Given the description of an element on the screen output the (x, y) to click on. 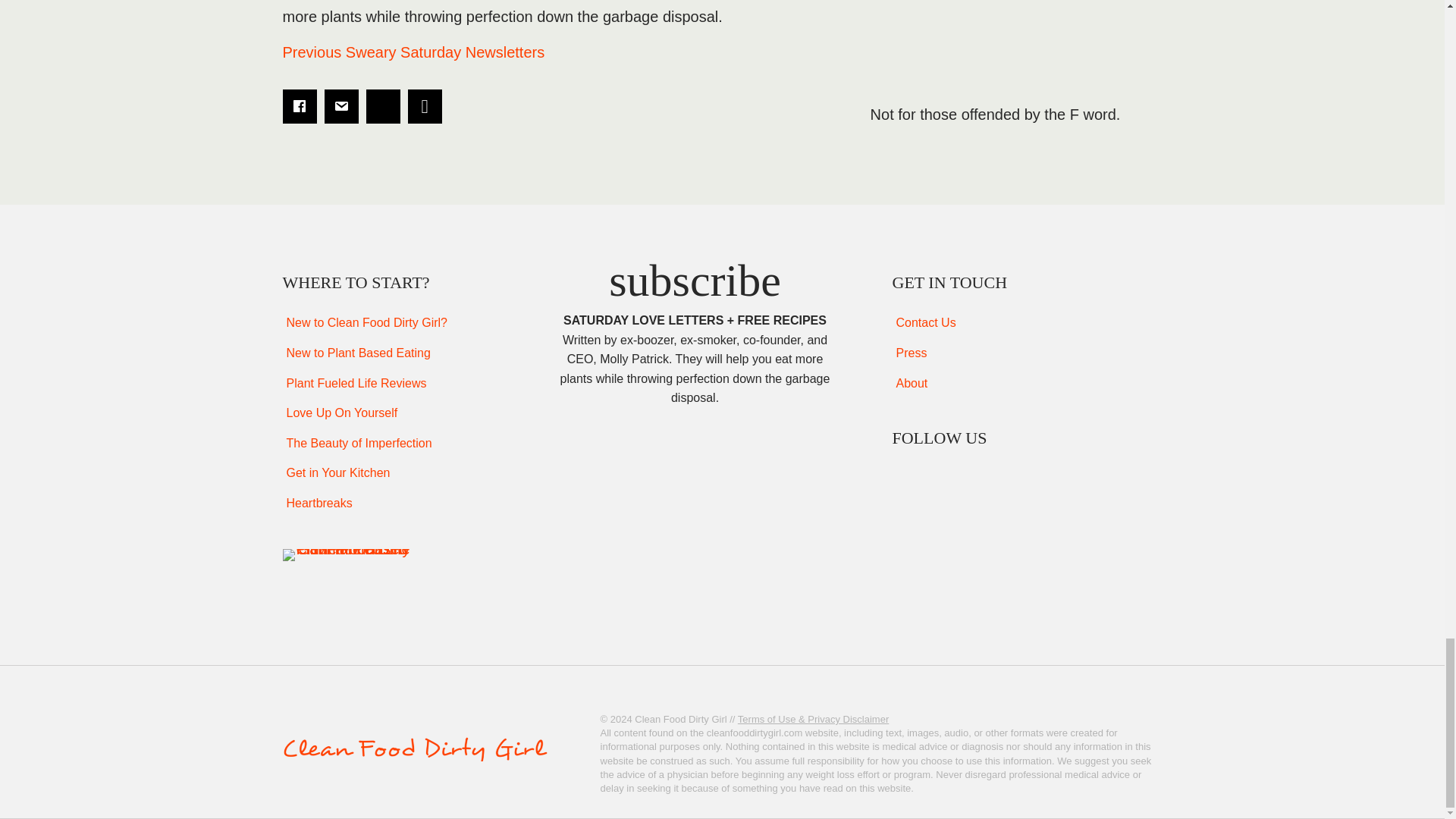
Instagram (937, 475)
Previous Sweary Saturday Newsletters (413, 52)
YouTube (1005, 475)
plant-fueled-life-clean-food-dirty-girl-plant-based-meals (346, 554)
Pinterest (970, 475)
